Given the description of an element on the screen output the (x, y) to click on. 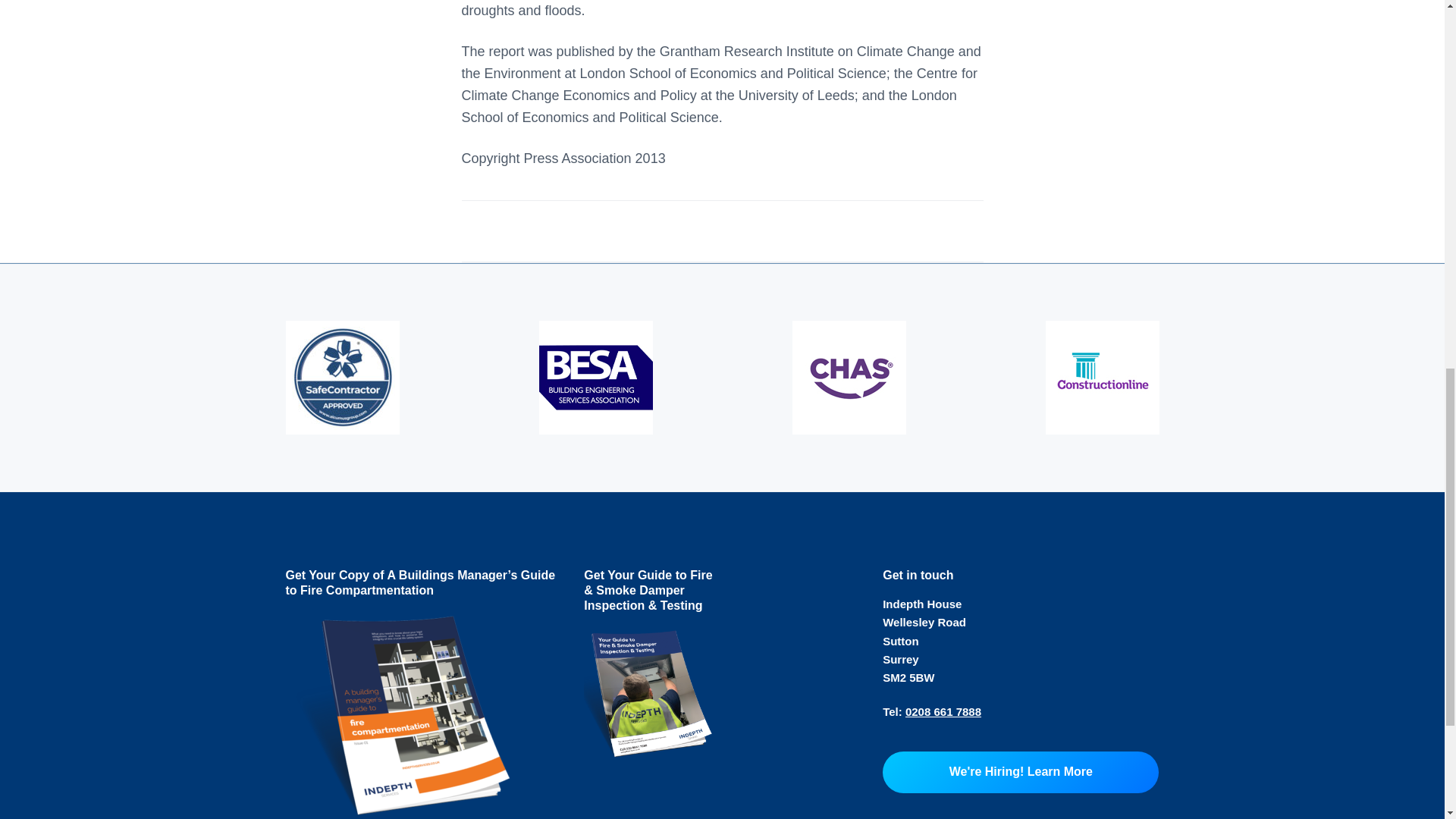
0208 661 7888 (943, 711)
We're Hiring! Learn More (1020, 771)
